Given the description of an element on the screen output the (x, y) to click on. 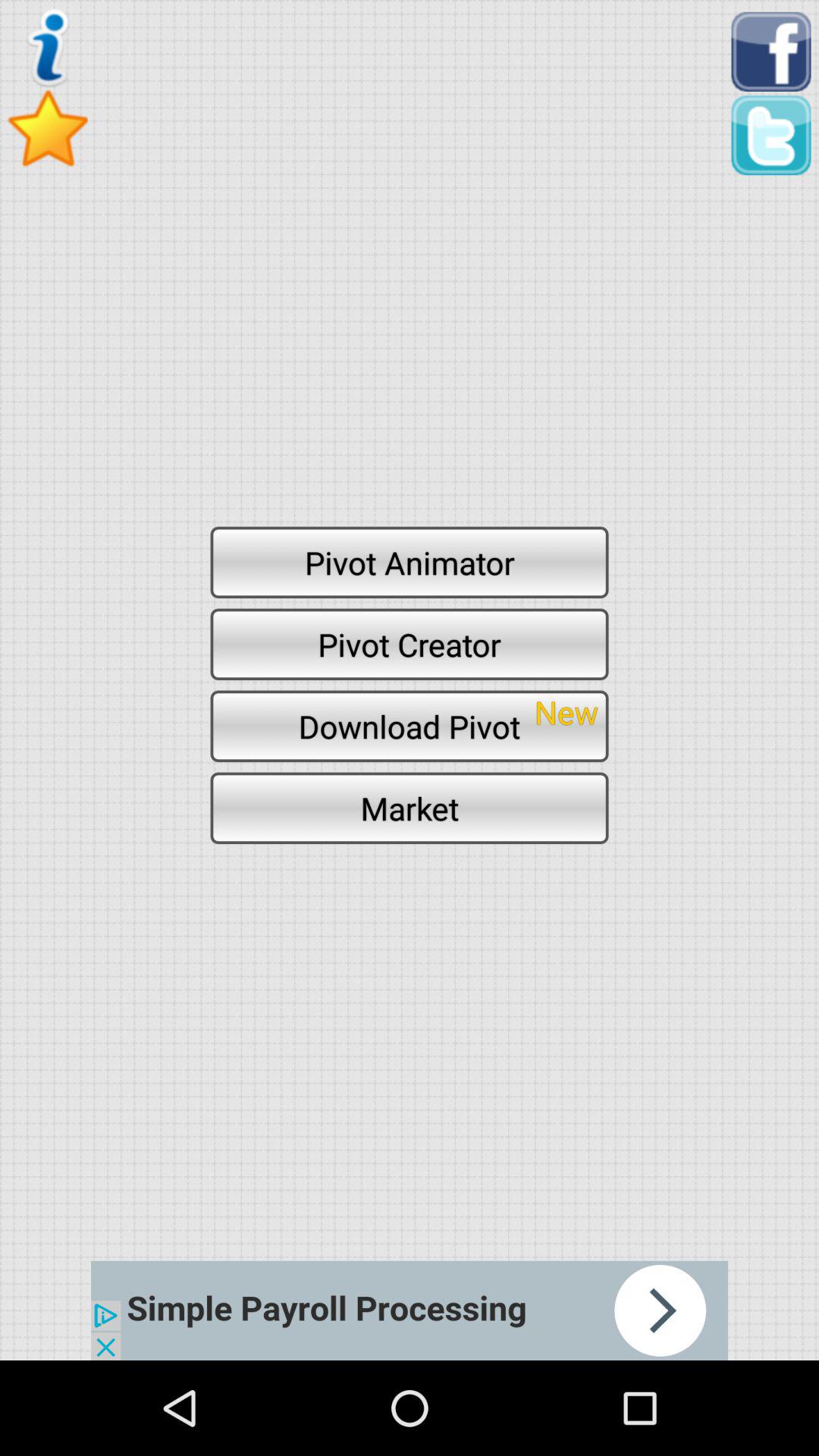
open pivot creator (409, 644)
